Given the description of an element on the screen output the (x, y) to click on. 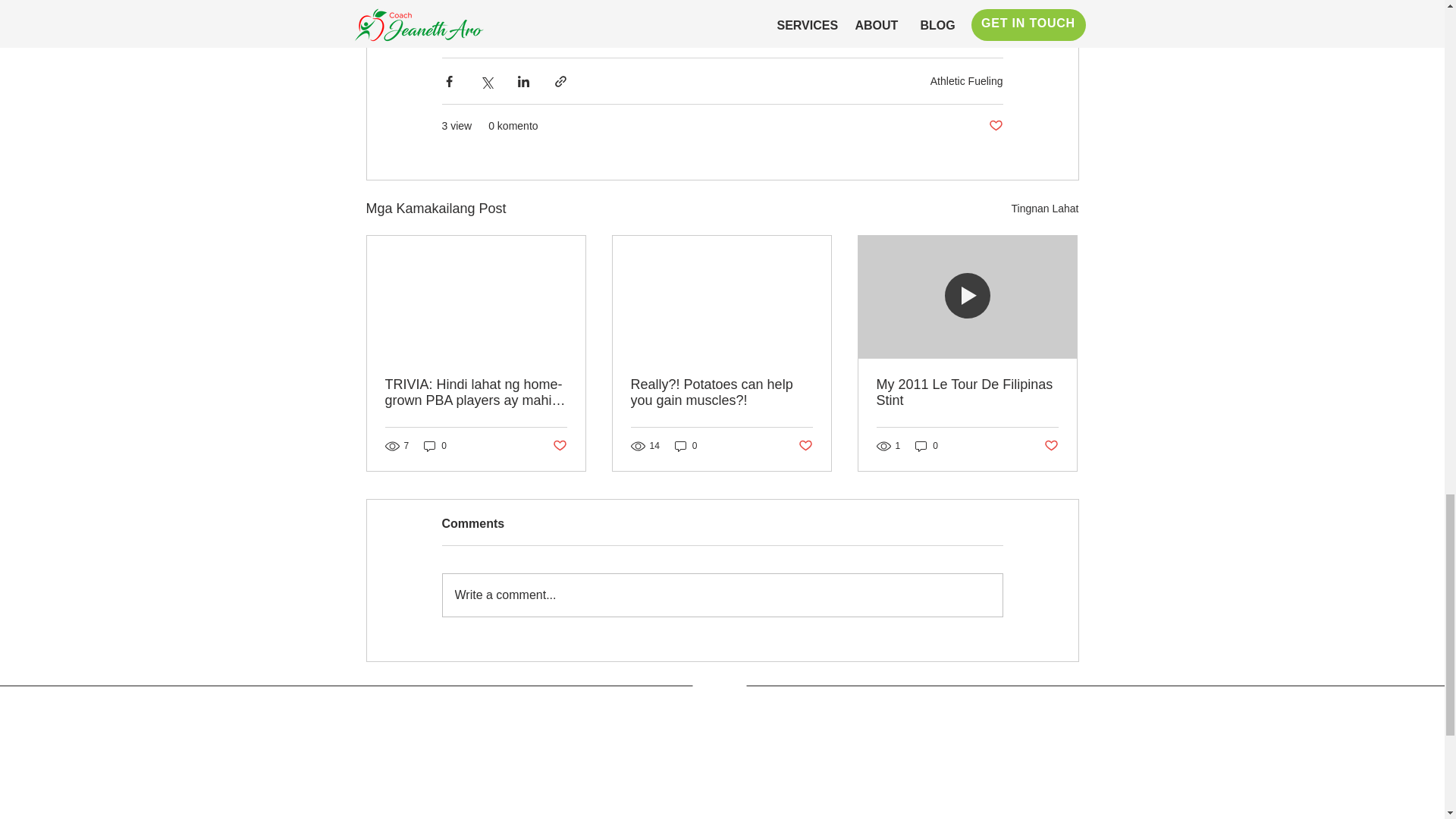
Hindi minarkahan bilang na-like ang post (804, 446)
Really?! Potatoes can help you gain muscles?! (721, 392)
0 (435, 445)
Hindi minarkahan bilang na-like ang post (995, 125)
0 (926, 445)
Athletic Fueling (966, 80)
0 (685, 445)
Write a comment... (722, 595)
Hindi minarkahan bilang na-like ang post (558, 446)
Hindi minarkahan bilang na-like ang post (1050, 446)
My 2011 Le Tour De Filipinas Stint (967, 392)
Tingnan Lahat (1044, 209)
